Given the description of an element on the screen output the (x, y) to click on. 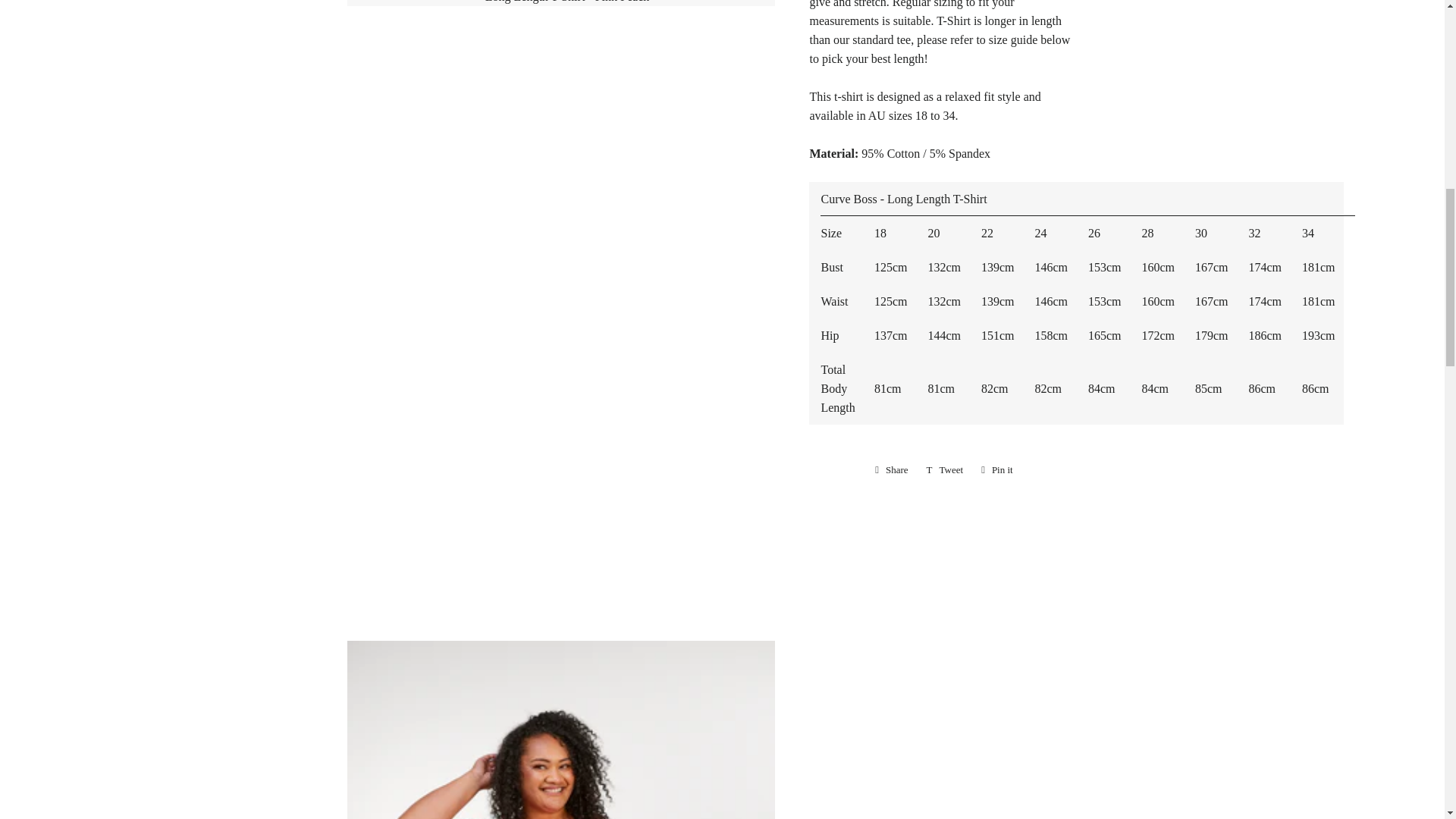
Share on Facebook (891, 469)
Tweet on Twitter (944, 469)
Pin on Pinterest (997, 469)
